Given the description of an element on the screen output the (x, y) to click on. 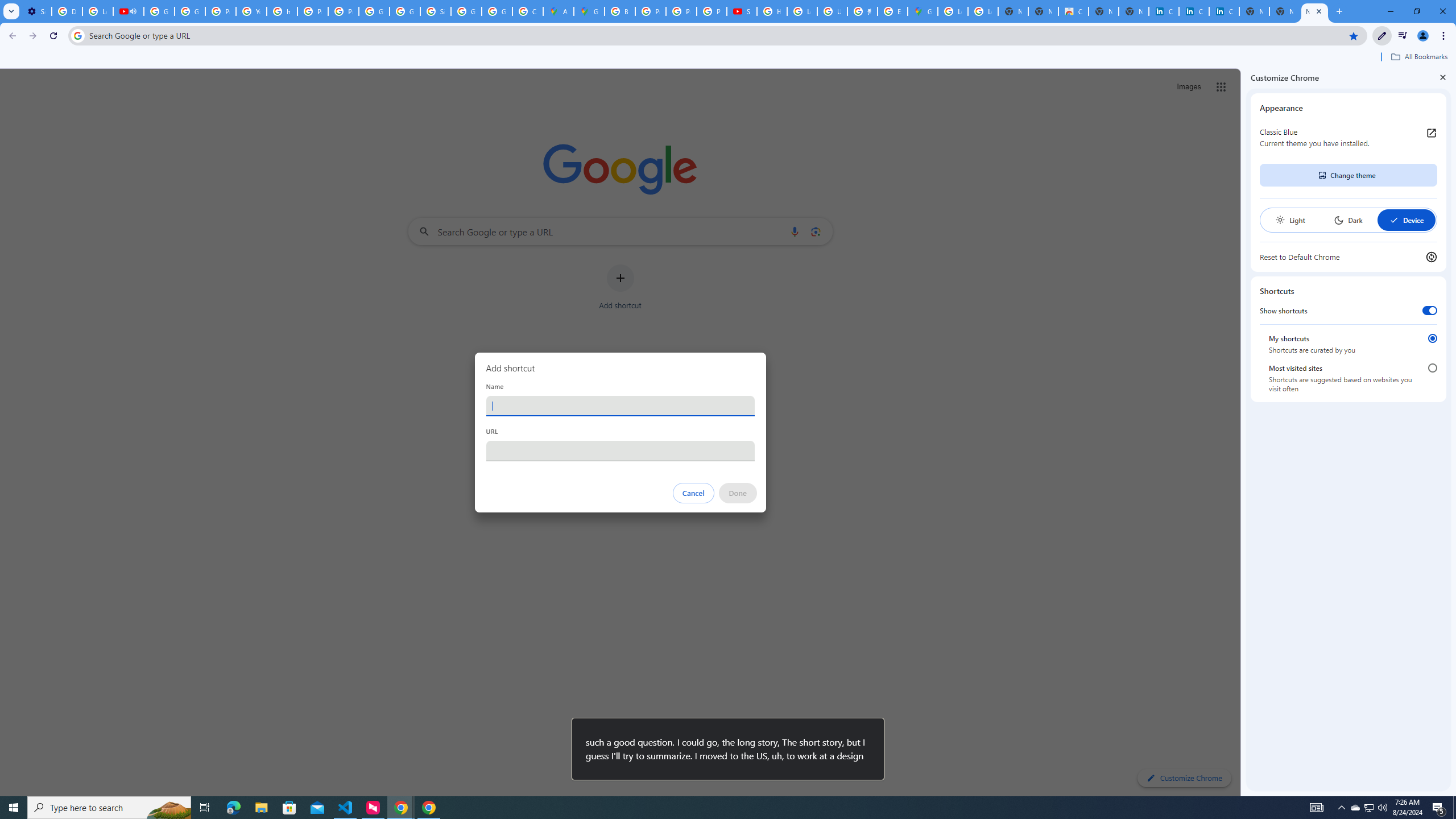
Device (1406, 219)
Google Account Help (189, 11)
Create your Google Account (527, 11)
Cookie Policy | LinkedIn (1163, 11)
Mute tab (133, 10)
How Chrome protects your passwords - Google Chrome Help (771, 11)
Done (737, 493)
Classic Blue Current theme you have installed. (1347, 137)
Cookie Policy | LinkedIn (1193, 11)
